Given the description of an element on the screen output the (x, y) to click on. 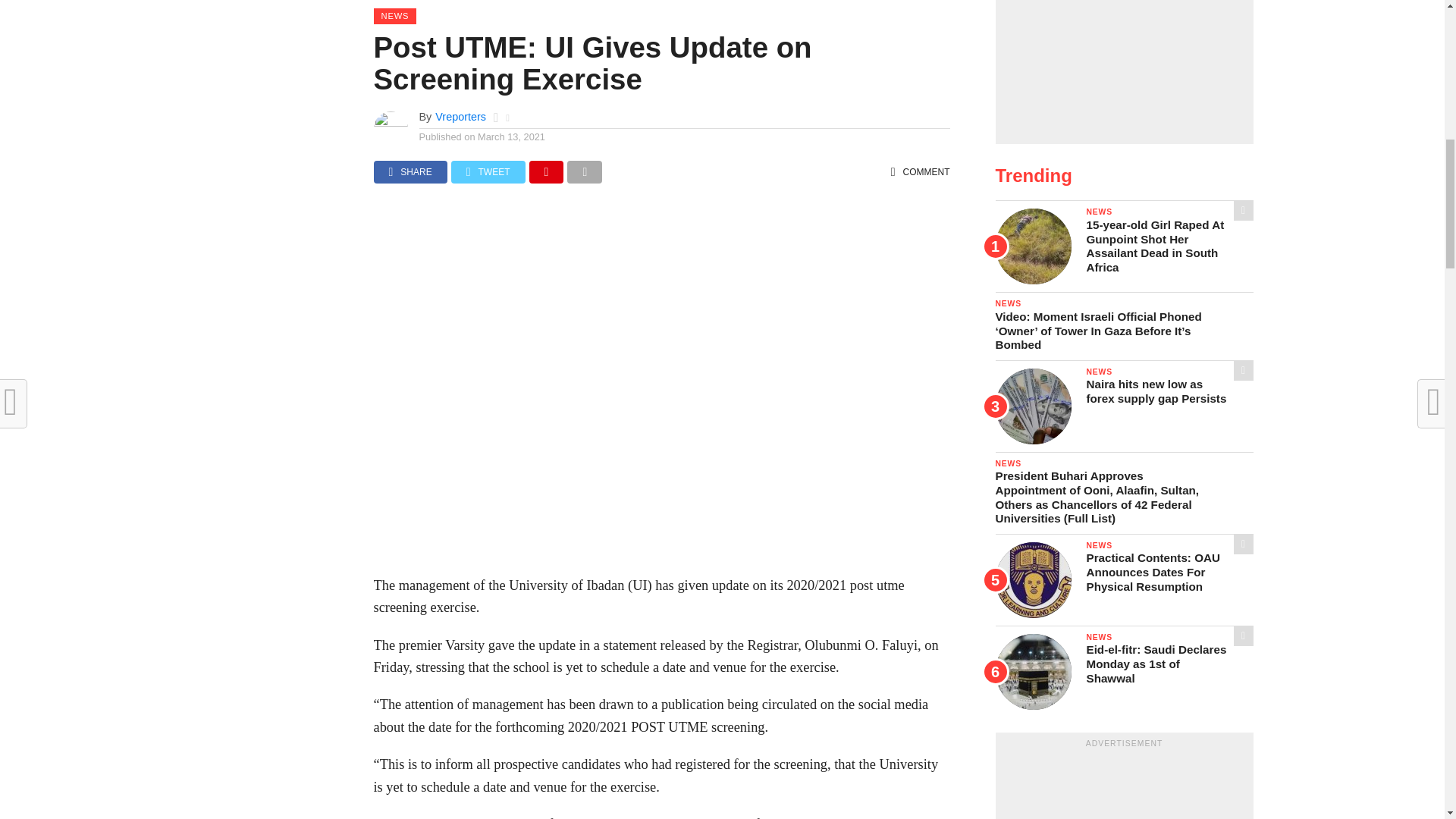
Vreporters (460, 116)
Posts by Vreporters (460, 116)
